Given the description of an element on the screen output the (x, y) to click on. 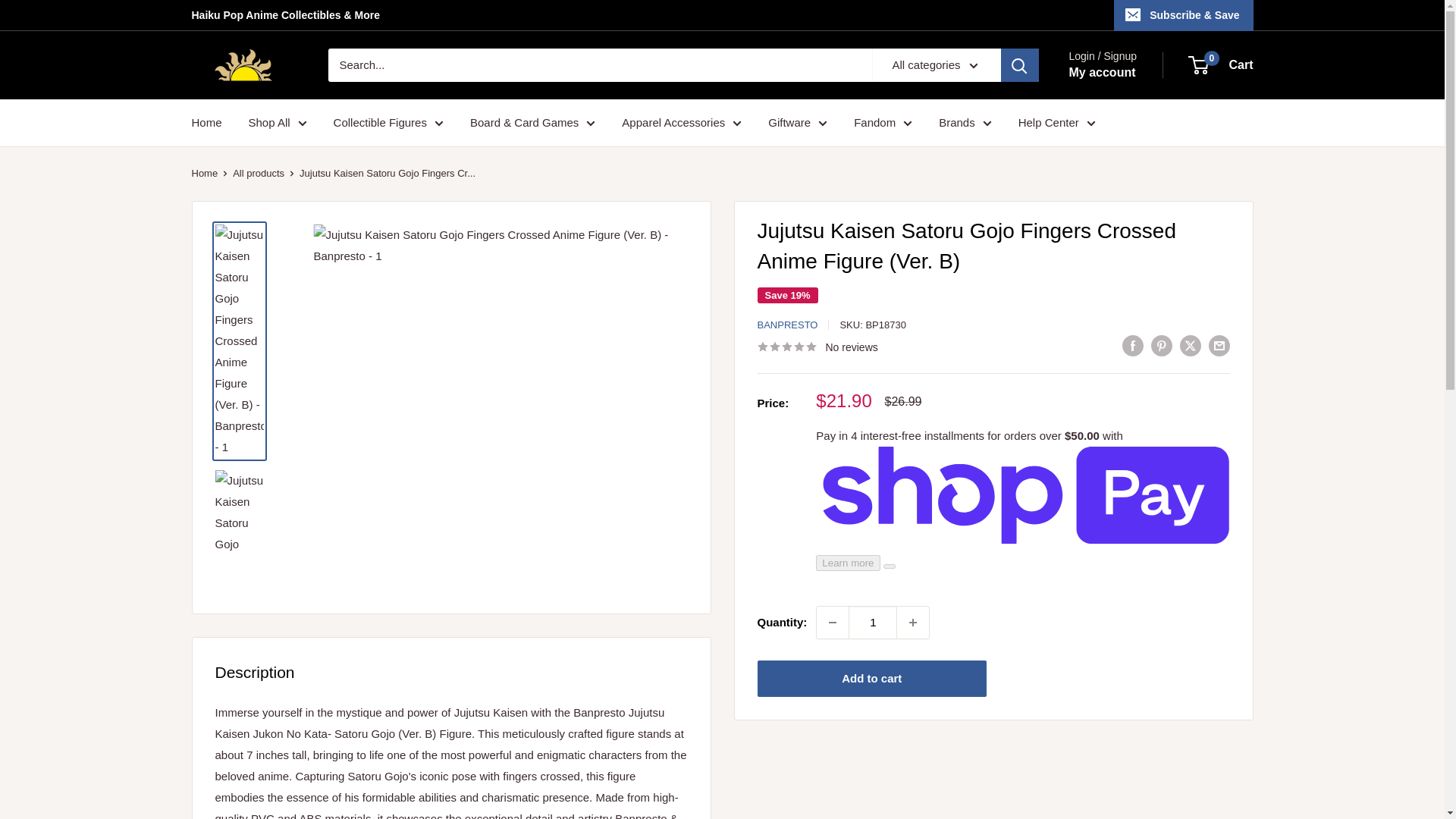
1 (872, 622)
Increase quantity by 1 (912, 622)
Decrease quantity by 1 (832, 622)
